Given the description of an element on the screen output the (x, y) to click on. 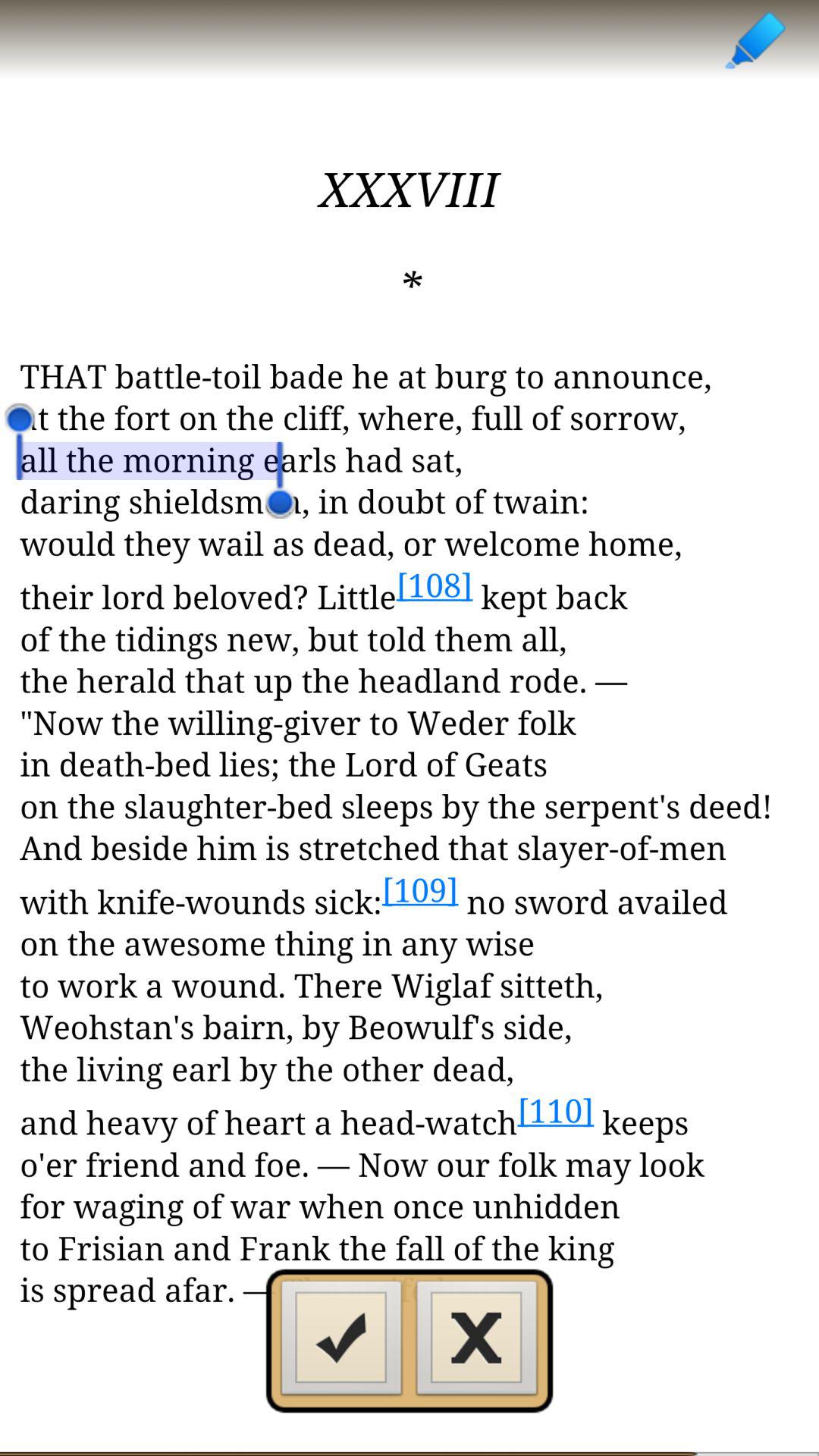
highlight text (754, 39)
